Given the description of an element on the screen output the (x, y) to click on. 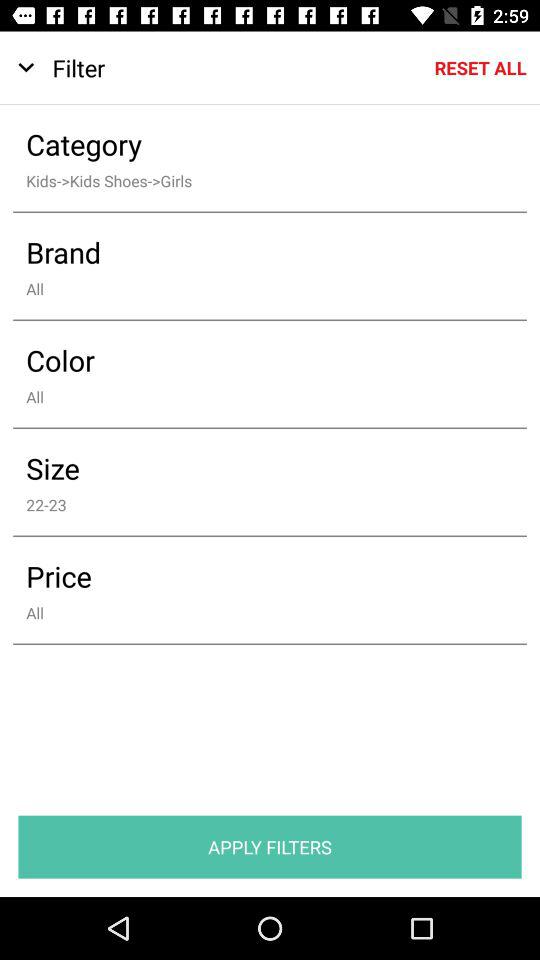
click item above the all item (256, 359)
